Given the description of an element on the screen output the (x, y) to click on. 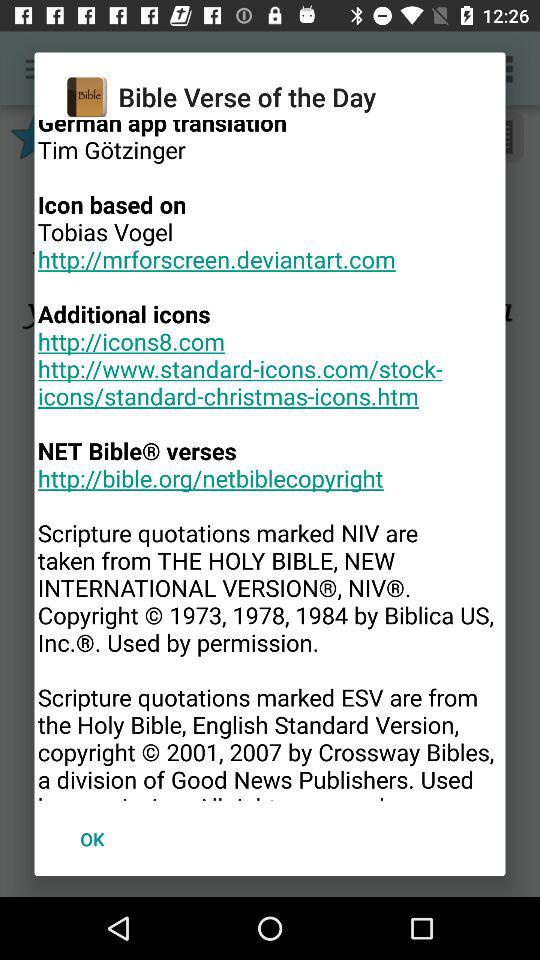
click the item above the ok icon (269, 460)
